Given the description of an element on the screen output the (x, y) to click on. 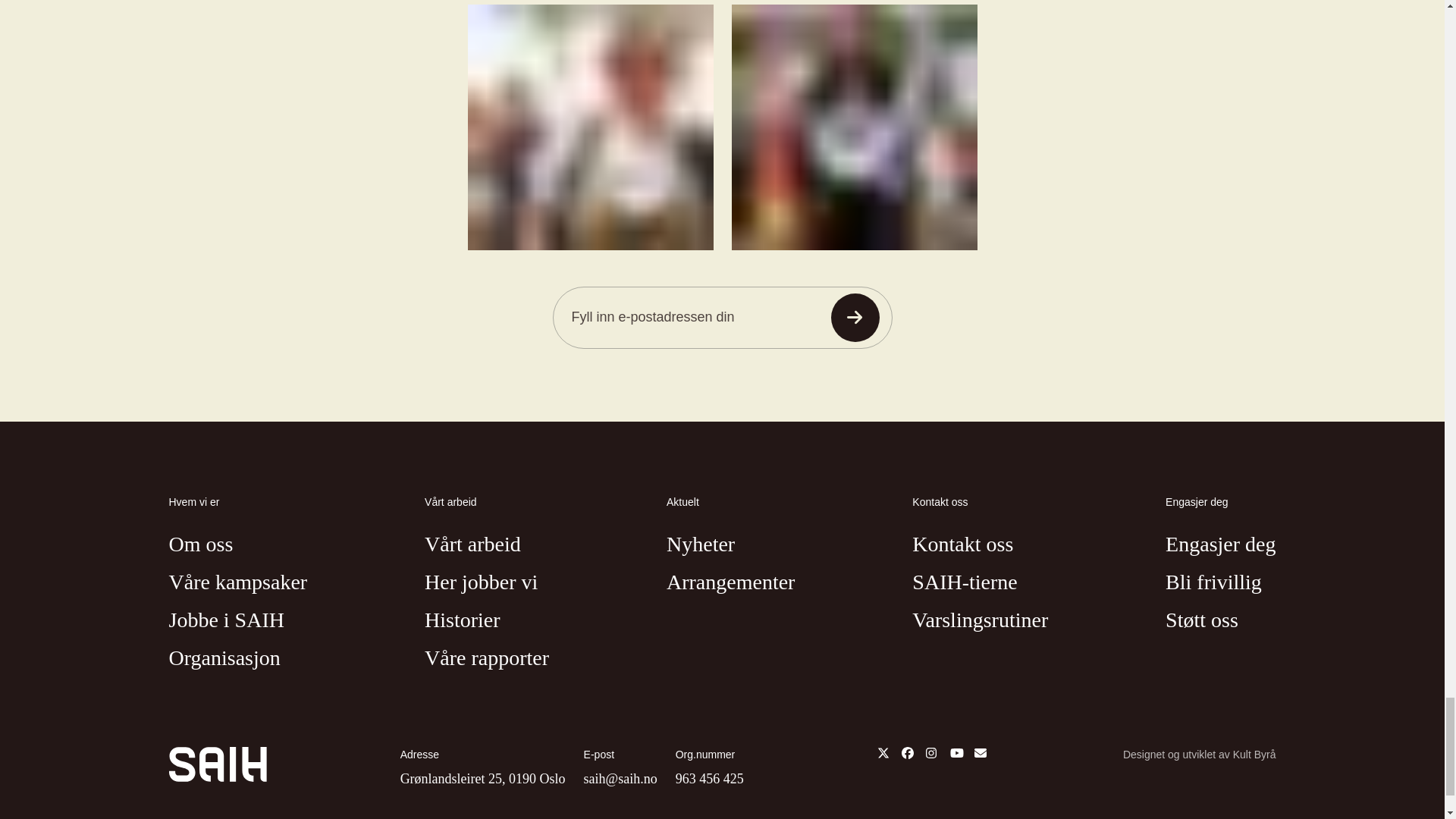
Arrangementer (730, 582)
Jobbe i SAIH (225, 620)
Om oss (200, 544)
Send inn (855, 317)
Nyheter (700, 544)
SAIH-tierne (964, 582)
Organisasjon (223, 658)
Kontakt oss (962, 544)
Historier (462, 620)
Her jobber vi (481, 582)
